Given the description of an element on the screen output the (x, y) to click on. 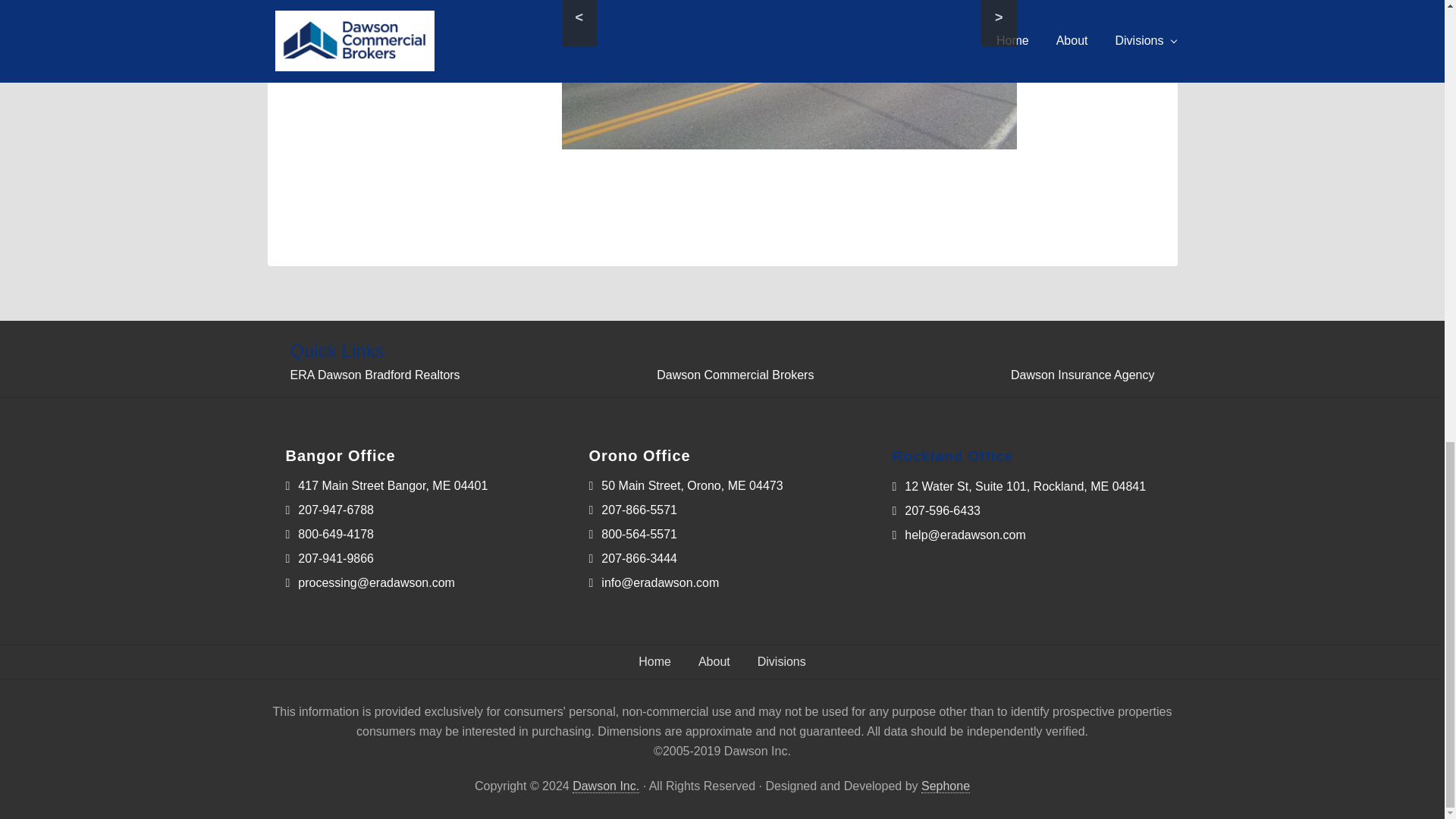
207-947-6788 (328, 509)
Dawson Insurance Agency (1082, 374)
207-941-9866 (328, 558)
ERA Dawson Bradford Realtors (374, 374)
800-649-4178 (328, 533)
417 Main Street Bangor, ME 04401 (386, 485)
Dawson Inc. (605, 786)
Dawson Commercial Brokers (734, 374)
